Given the description of an element on the screen output the (x, y) to click on. 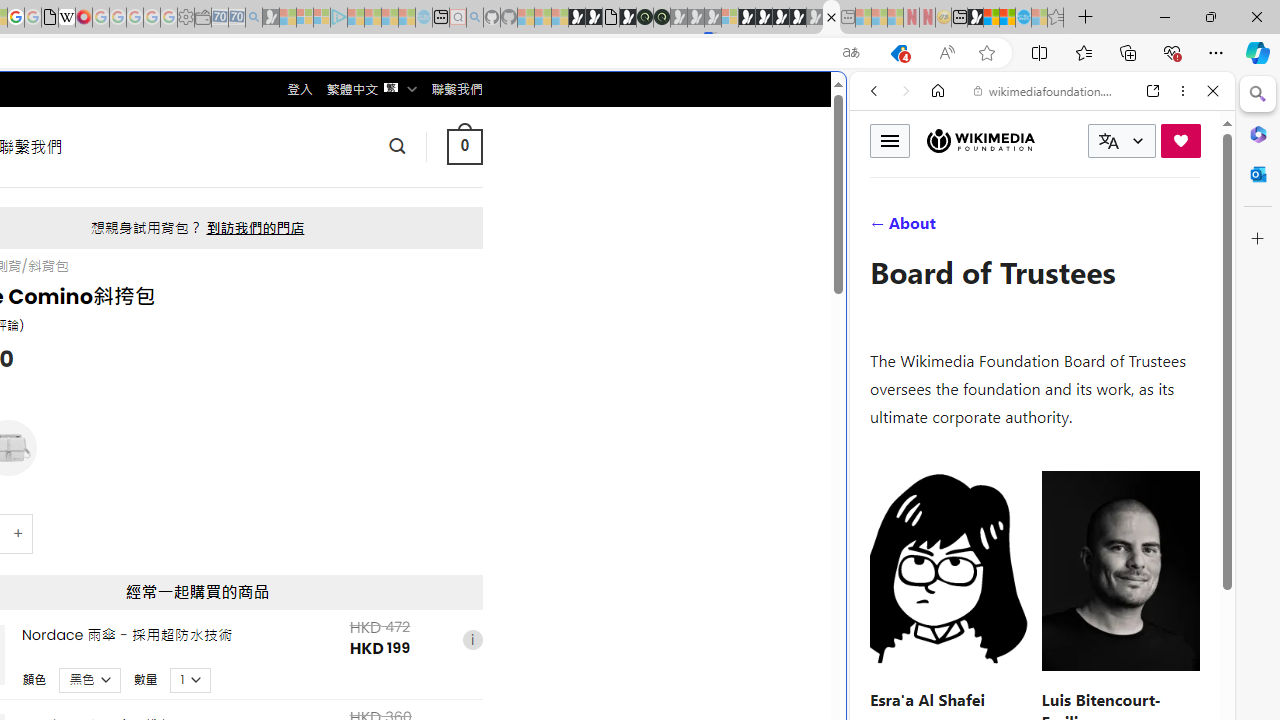
Close split screen (844, 102)
